Given the description of an element on the screen output the (x, y) to click on. 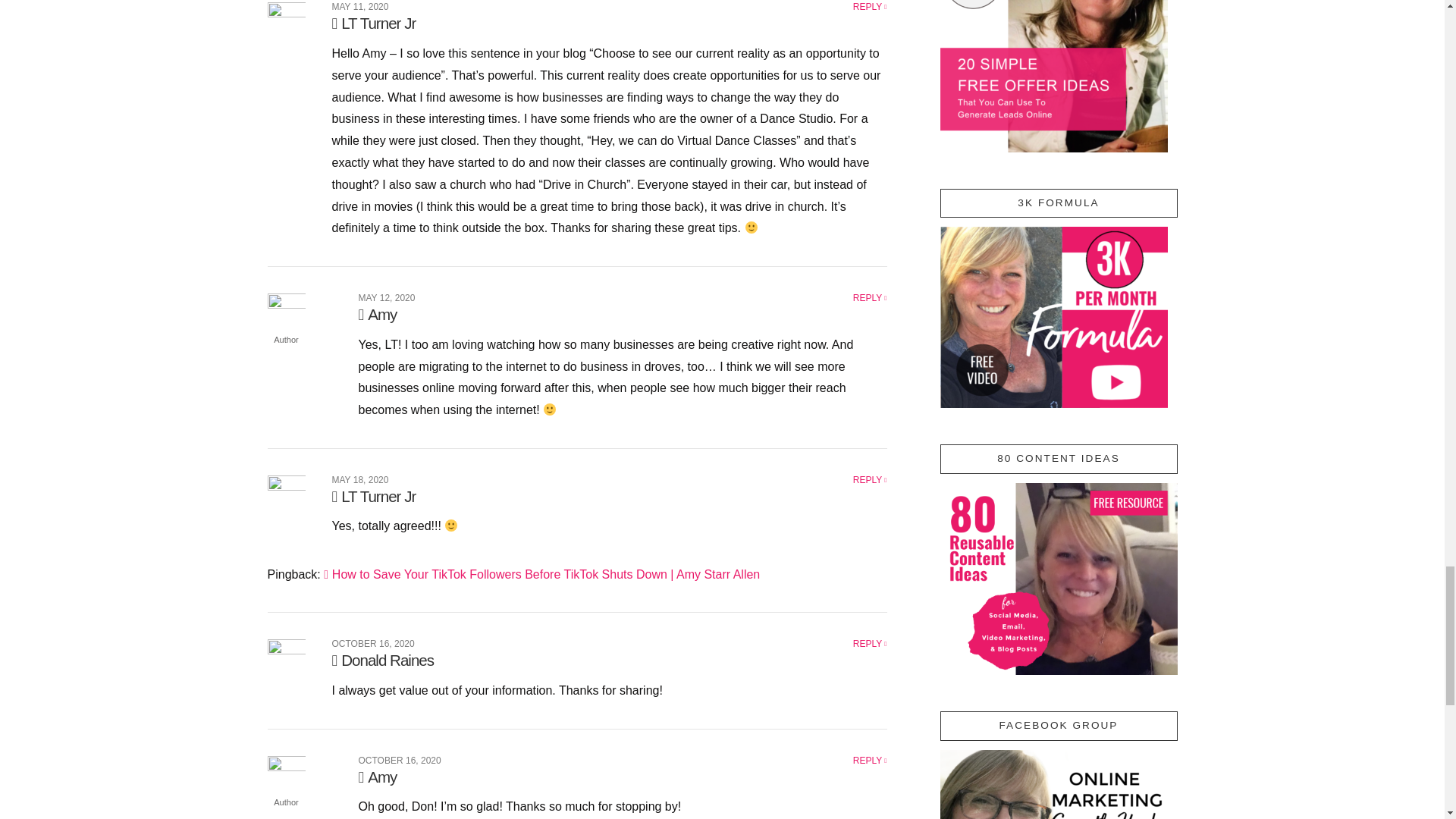
REPLY (869, 297)
REPLY (869, 6)
LT Turner Jr (373, 22)
MAY 18, 2020 (359, 479)
FACEBOOK GROUP (1053, 784)
3K FORMULA (1053, 316)
GRAB THE GUIDE (1053, 76)
MAY 11, 2020 (359, 6)
80 CONTENT IDEAS (1058, 578)
MAY 12, 2020 (386, 297)
